Given the description of an element on the screen output the (x, y) to click on. 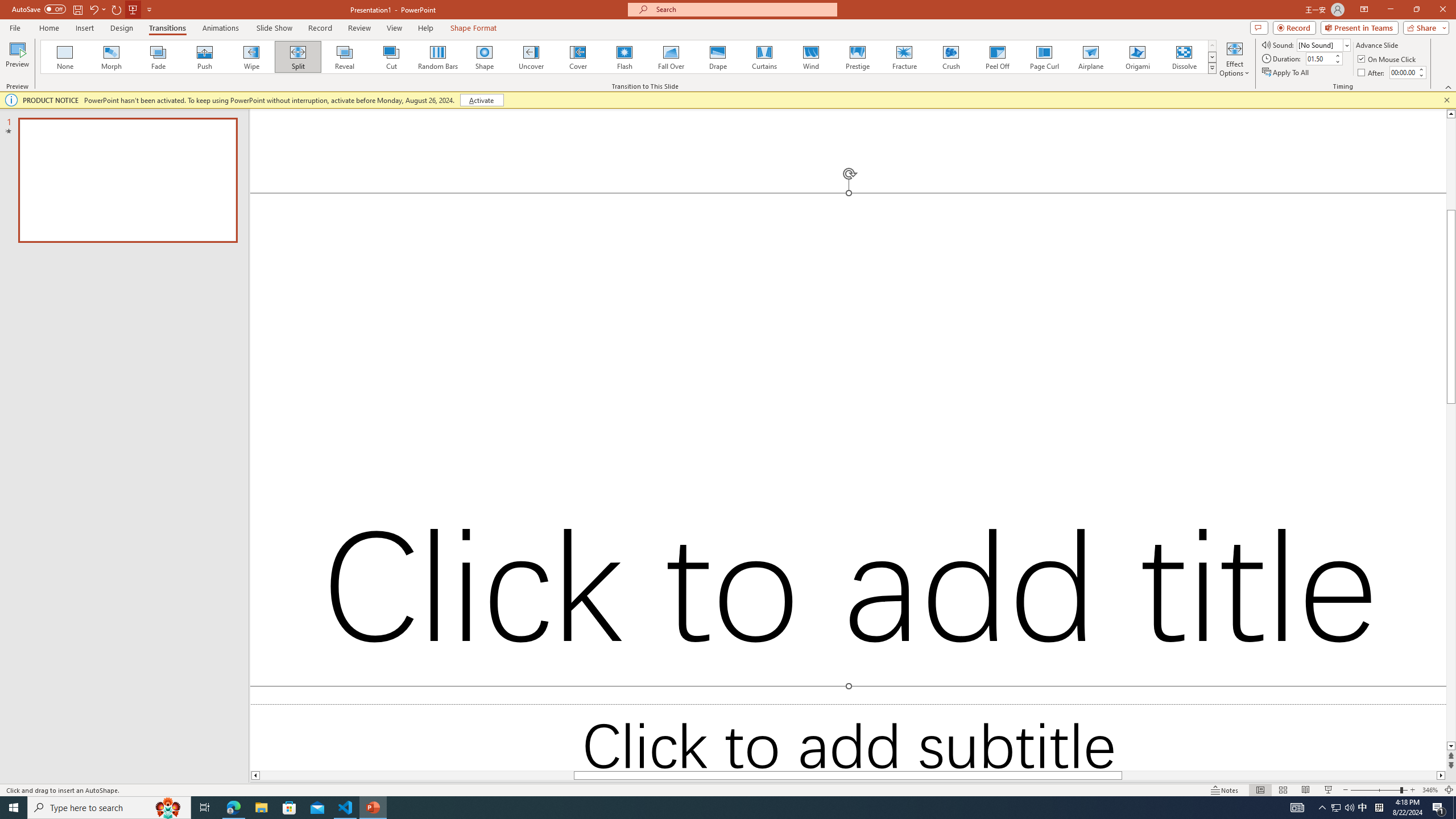
b63ee27f-4cf3-414c-9275-d88e3f90795e (1369, 250)
Sort... (599, 77)
Decrease Indent (515, 77)
Normal (1369, 266)
Font... (383, 128)
Emphasis (1369, 397)
Justify (474, 102)
Format Painter (63, 112)
